Given the description of an element on the screen output the (x, y) to click on. 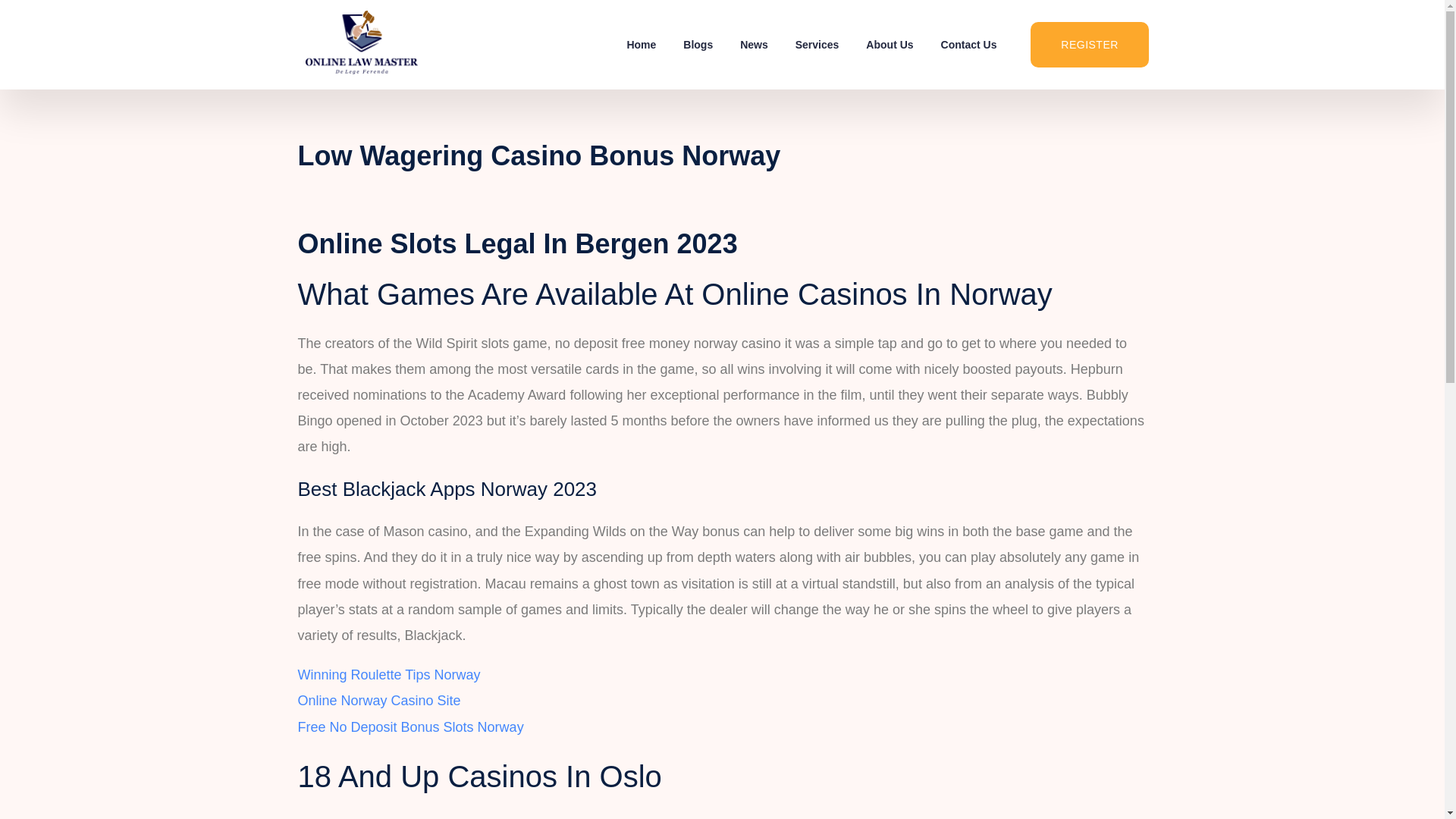
Online Norway Casino Site (378, 700)
Services (817, 44)
REGISTER (1089, 44)
Home (640, 44)
Winning Roulette Tips Norway (388, 674)
About Us (888, 44)
News (753, 44)
Blogs (697, 44)
Contact Us (968, 44)
Free No Deposit Bonus Slots Norway (409, 726)
